Given the description of an element on the screen output the (x, y) to click on. 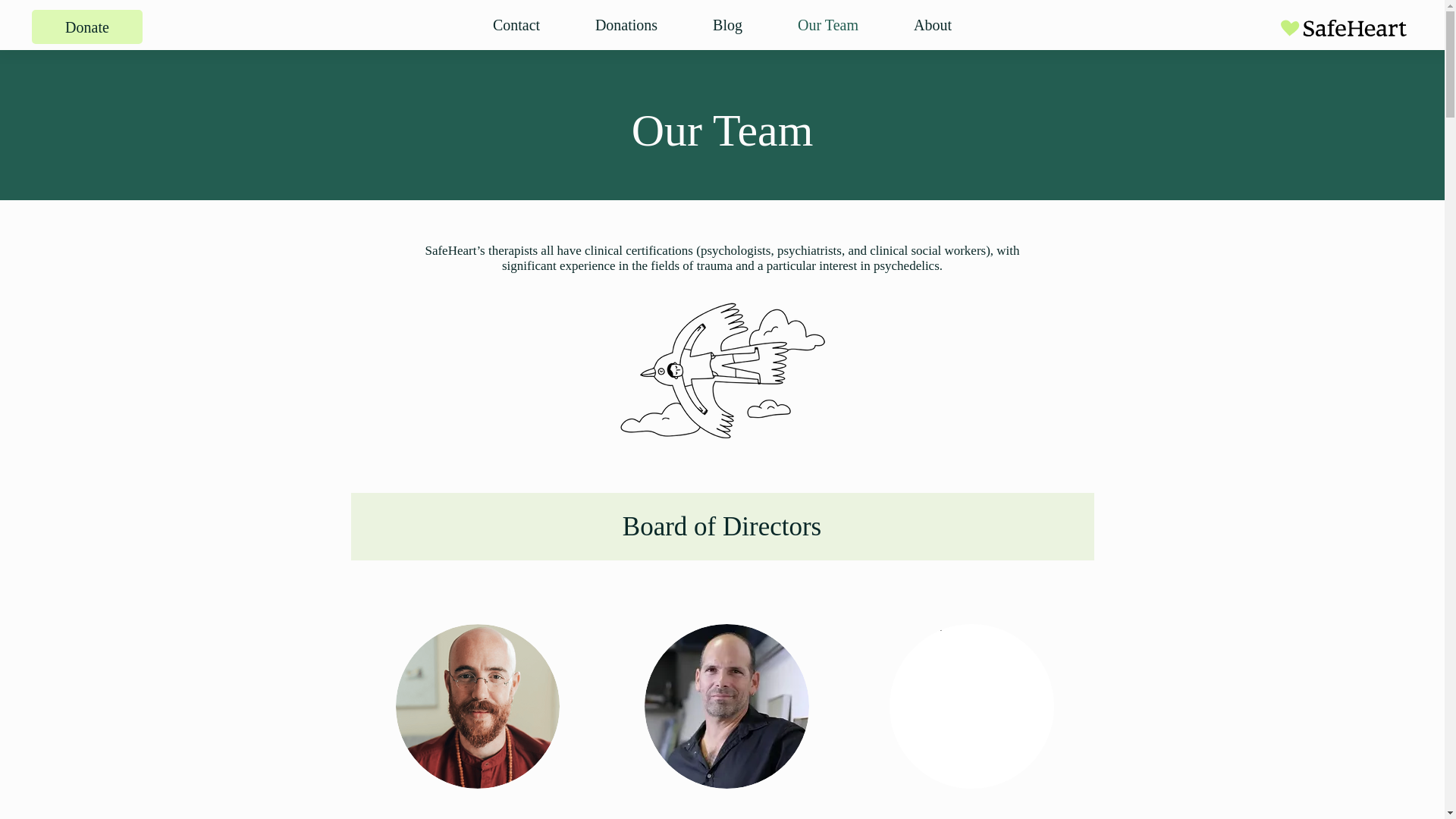
Blog (727, 24)
Donations (625, 24)
guy4.jpg (970, 706)
Our Team (828, 24)
guy3.jpg (727, 706)
About (931, 24)
Donate (87, 26)
Contact (516, 24)
guy2.jpg (477, 706)
